Given the description of an element on the screen output the (x, y) to click on. 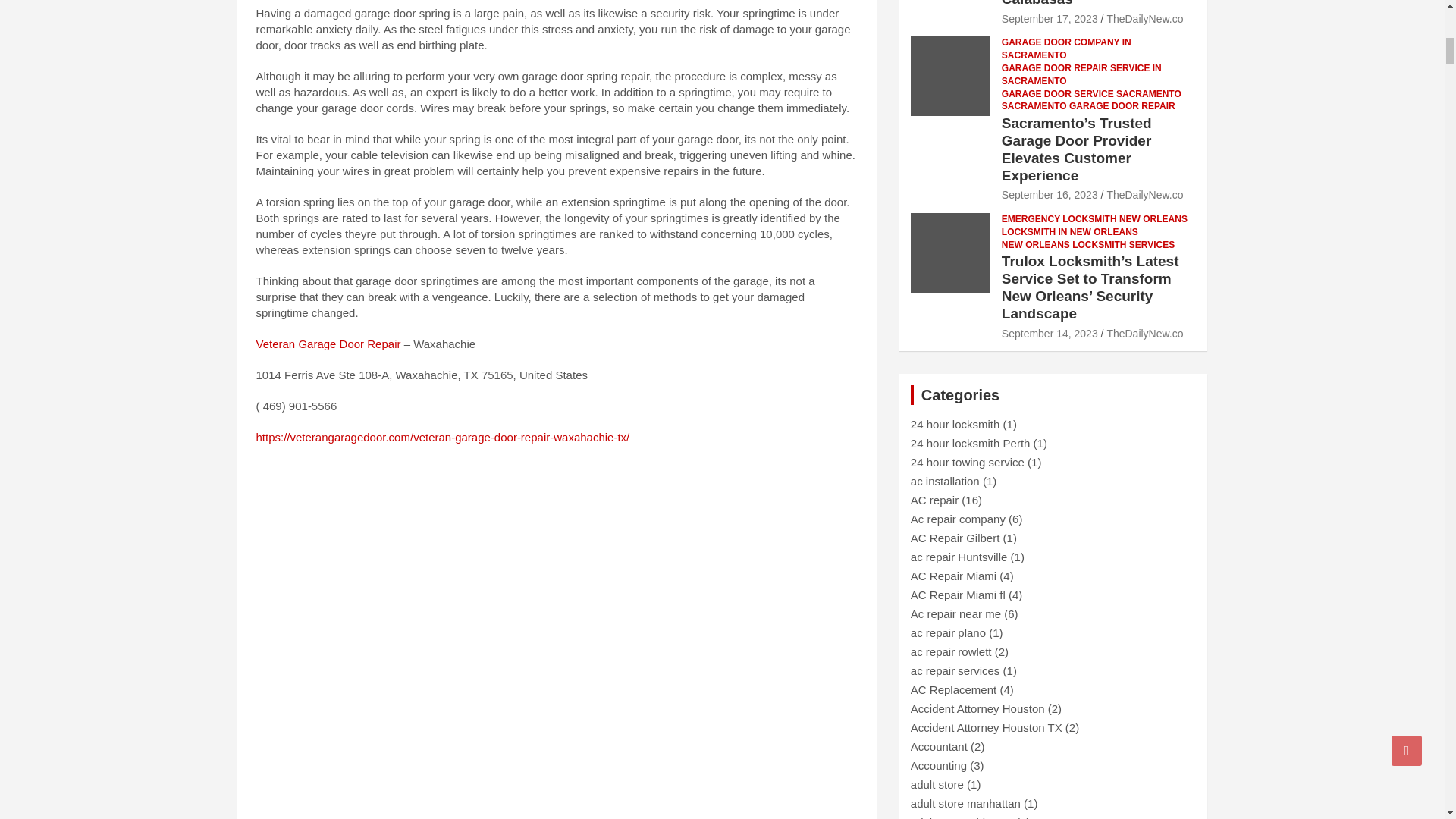
Veteran (277, 343)
Garage Door Repair (349, 343)
